Given the description of an element on the screen output the (x, y) to click on. 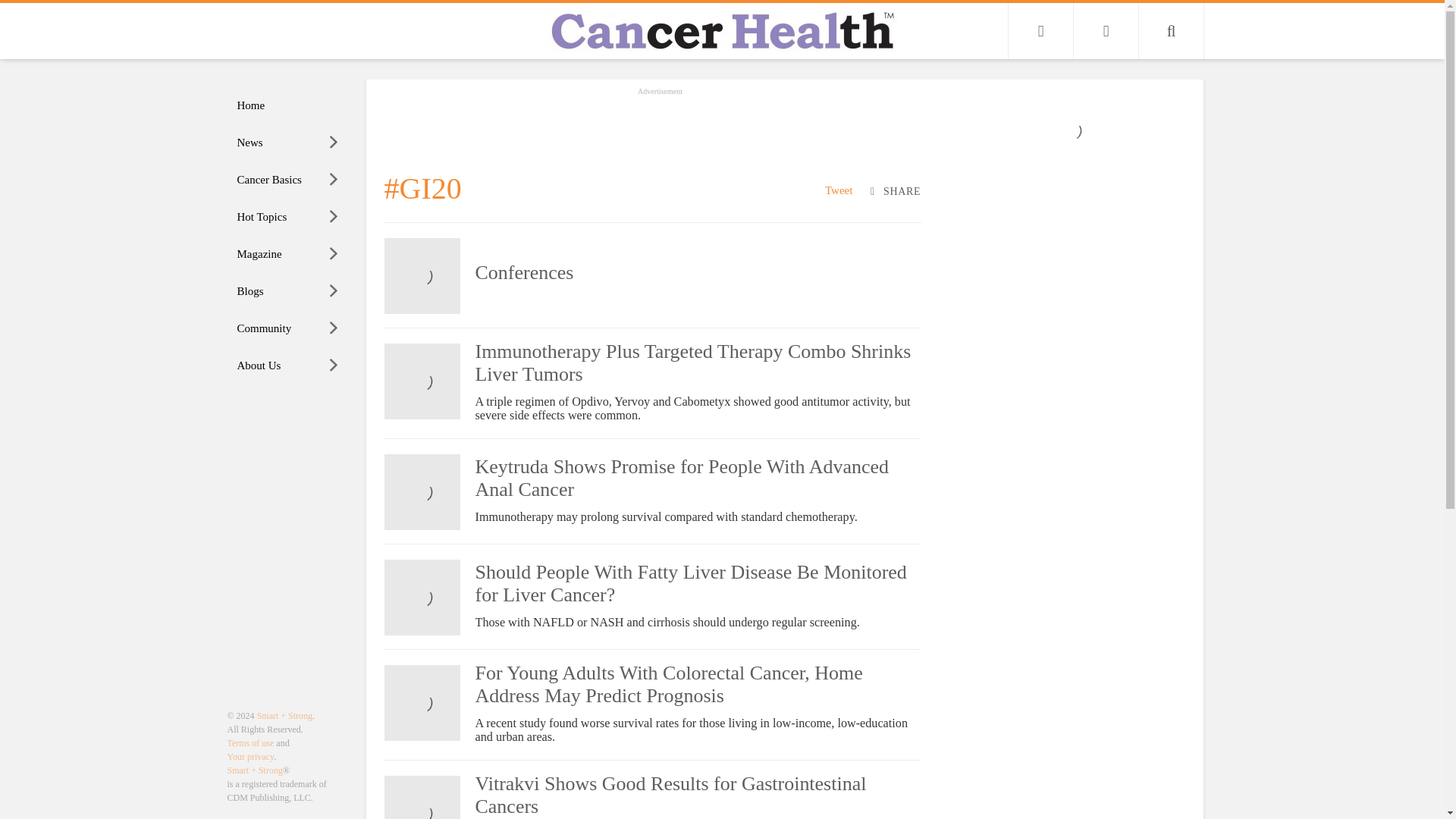
Cancer Basics (288, 180)
News (288, 142)
Hot Topics (288, 217)
Home (288, 105)
